Given the description of an element on the screen output the (x, y) to click on. 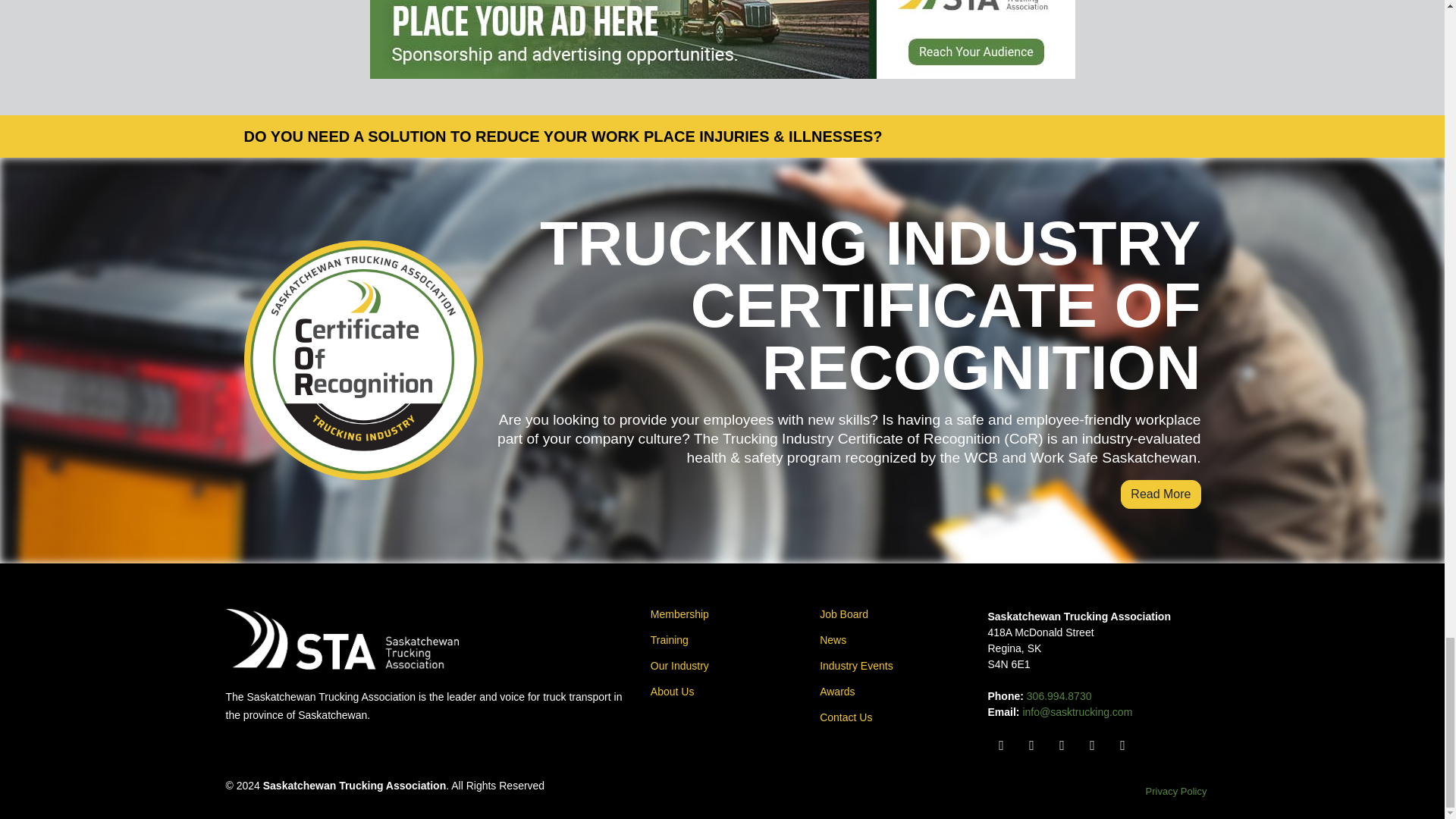
Saskatchewan Trucking Association (341, 639)
